Given the description of an element on the screen output the (x, y) to click on. 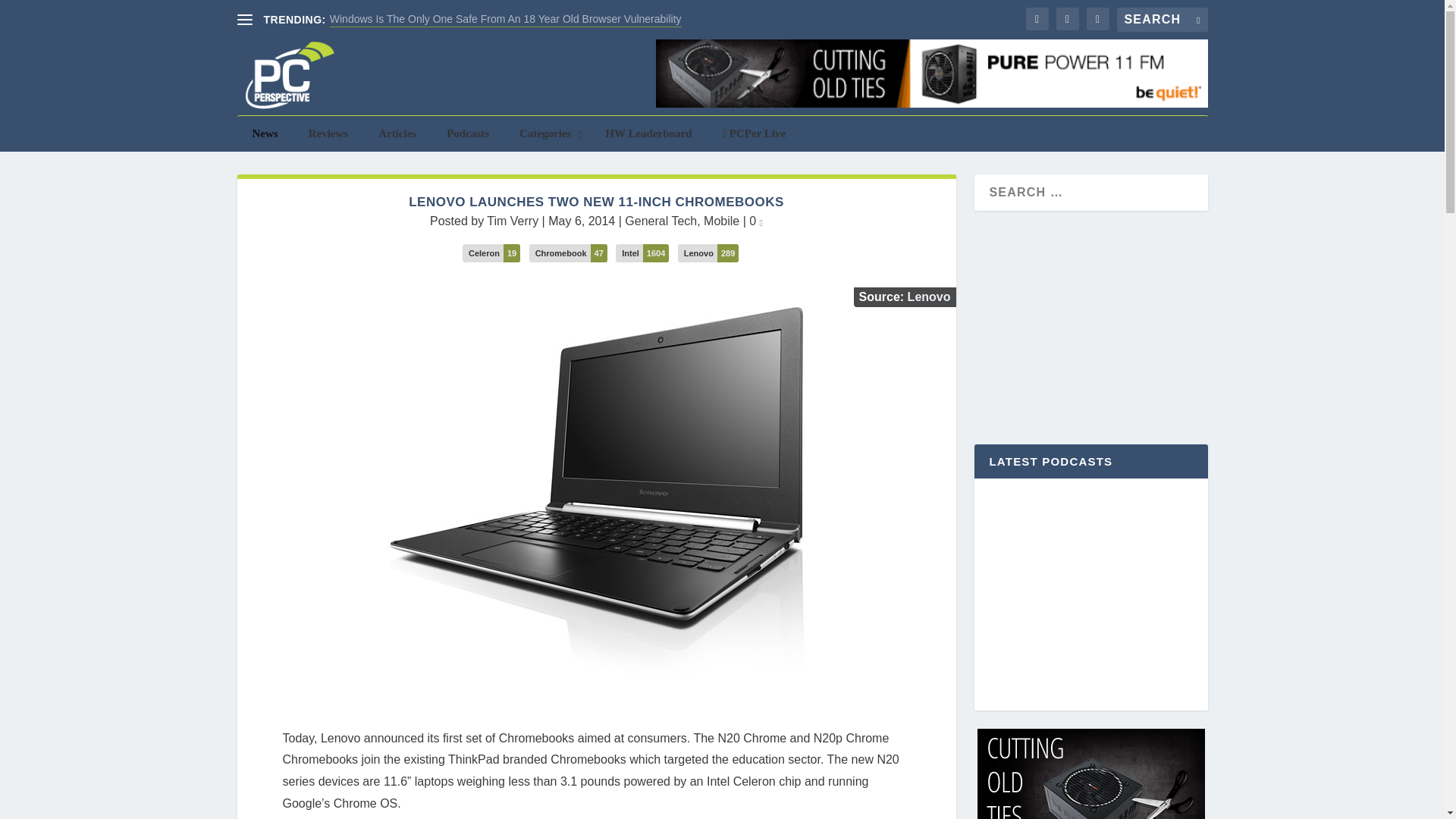
Podcasts (466, 133)
Posts by Tim Verry (512, 220)
Articles (396, 133)
Search for: (1161, 19)
News (263, 133)
Reviews (329, 133)
Categories (546, 133)
PCPer Live (754, 133)
HW Leaderboard (647, 133)
